Given the description of an element on the screen output the (x, y) to click on. 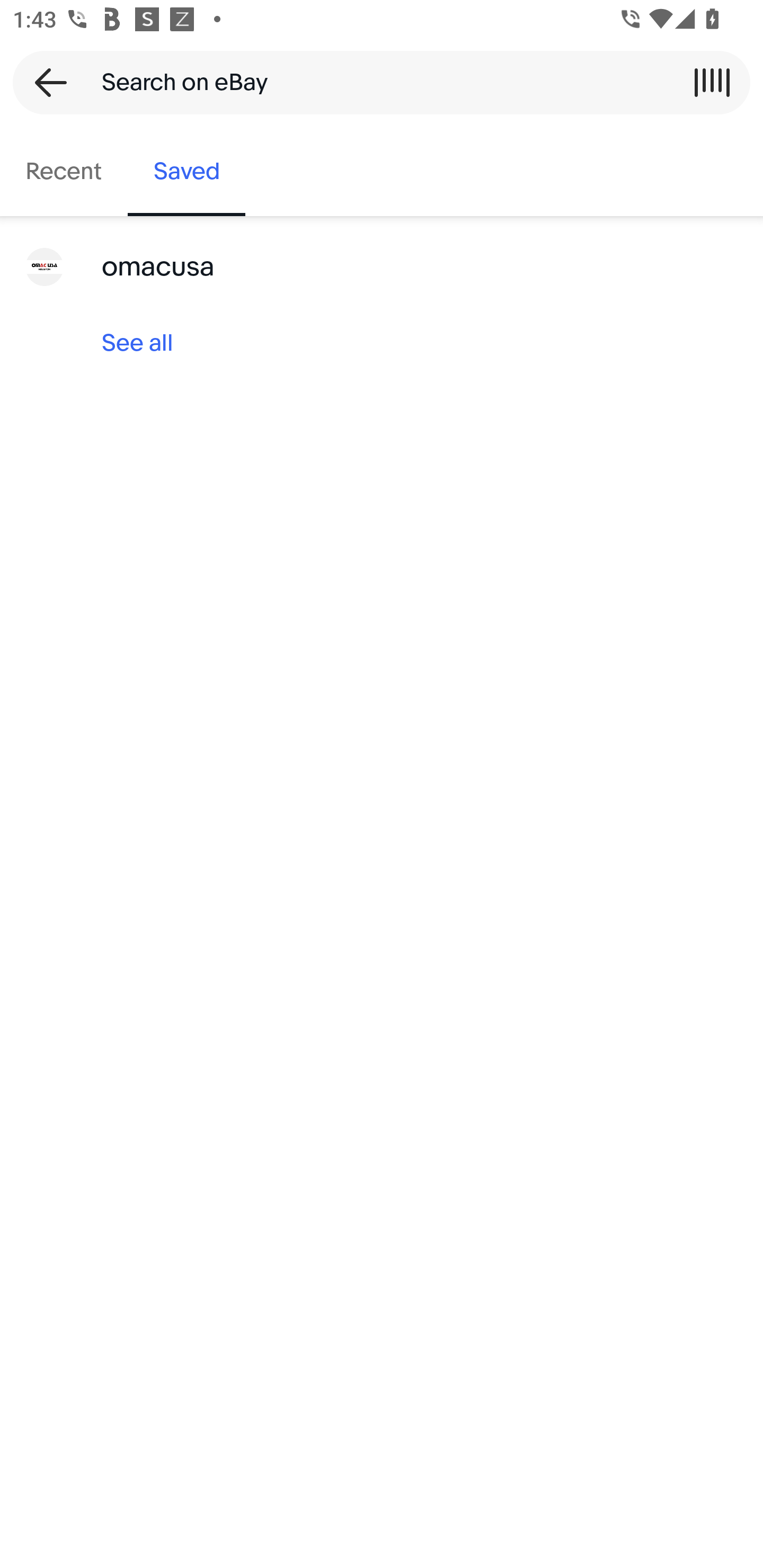
Back (44, 82)
Scan a barcode (711, 82)
Search on eBay (375, 82)
Recent, tab 1 of 2 Recent (63, 171)
User Search omacusa: omacusa (381, 266)
See all See all members (381, 343)
